Given the description of an element on the screen output the (x, y) to click on. 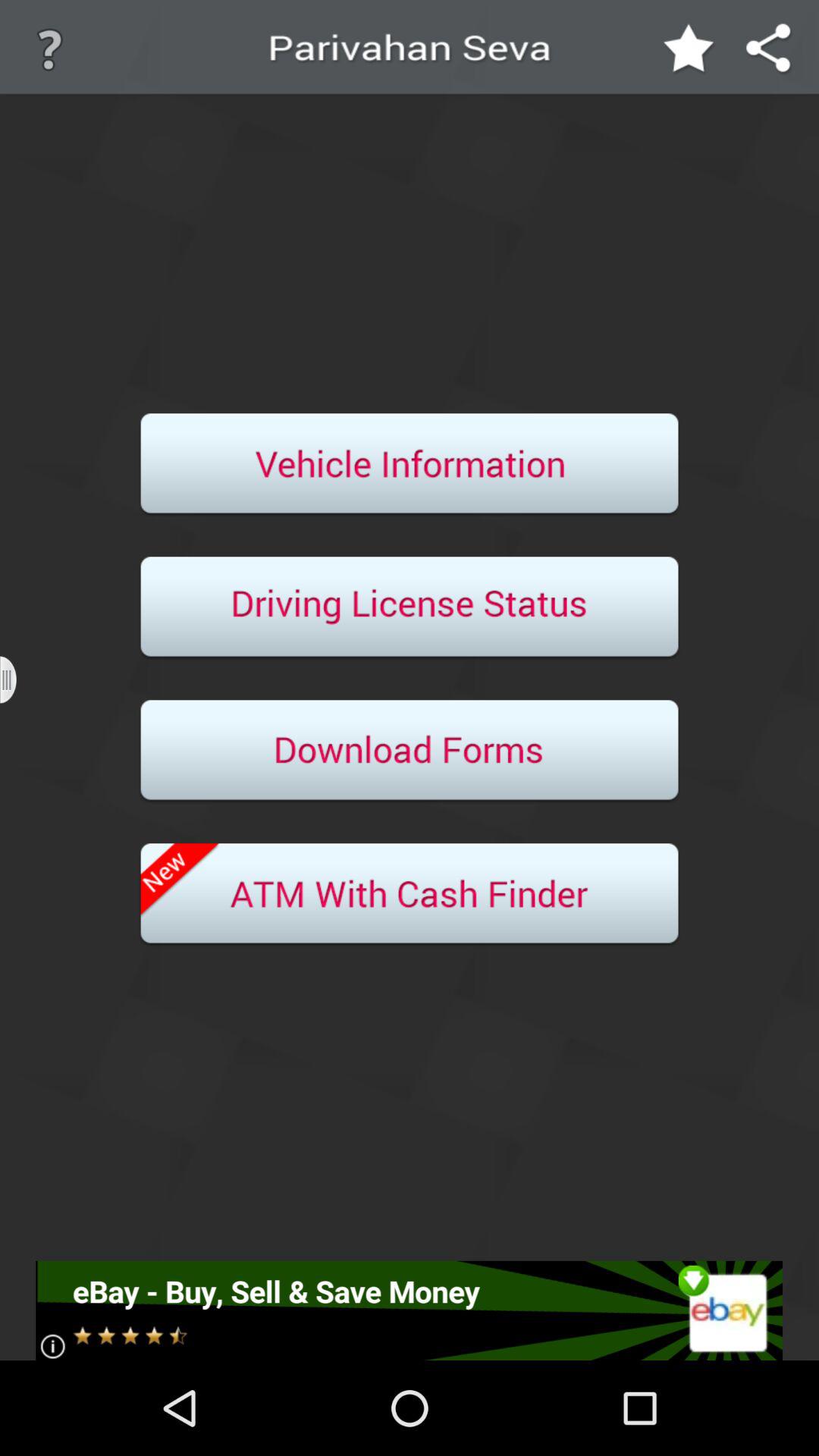
link to ebay (408, 1310)
